Given the description of an element on the screen output the (x, y) to click on. 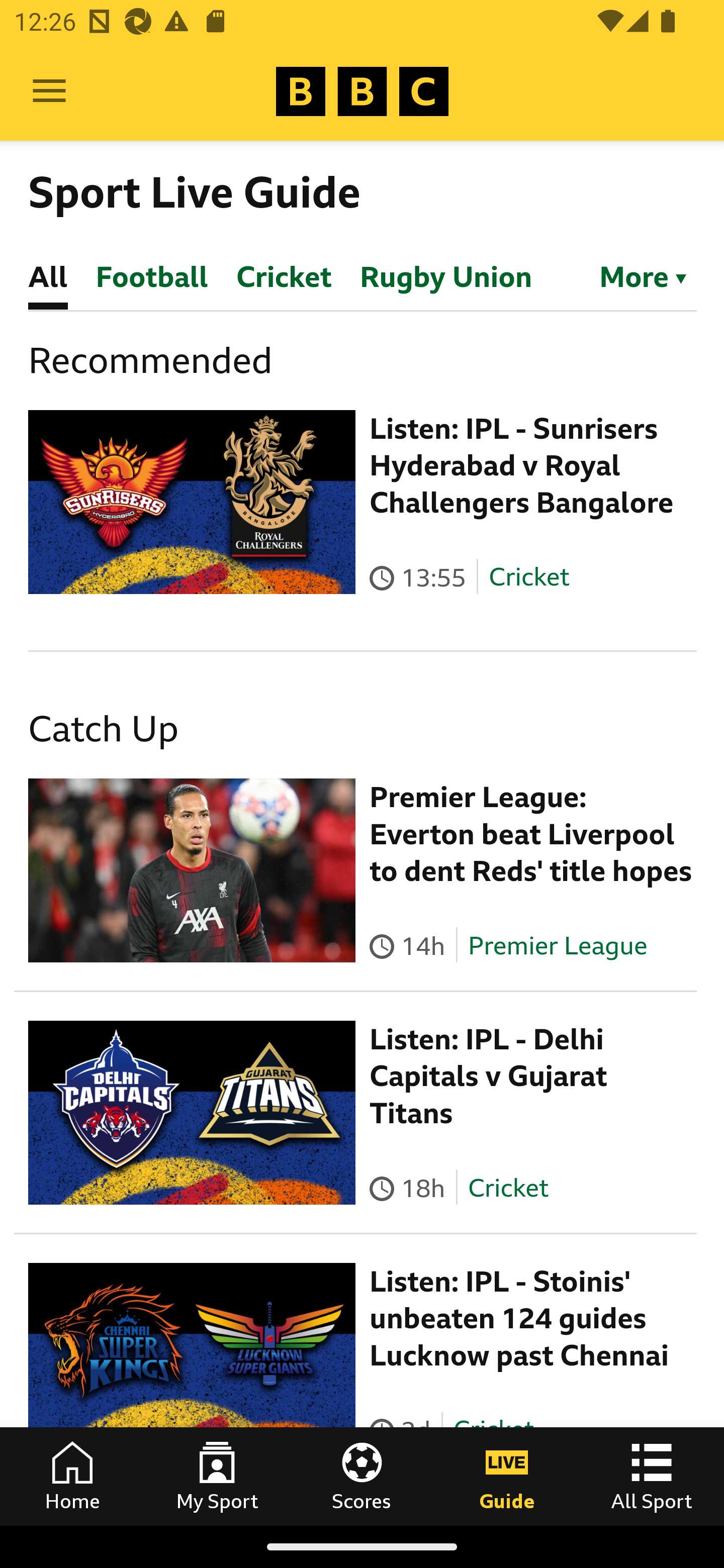
Open Menu (49, 91)
Cricket (528, 576)
Premier League (557, 945)
Listen: IPL - Delhi Capitals v Gujarat Titans (488, 1076)
Cricket (507, 1186)
Home (72, 1475)
My Sport (216, 1475)
Scores (361, 1475)
All Sport (651, 1475)
